Given the description of an element on the screen output the (x, y) to click on. 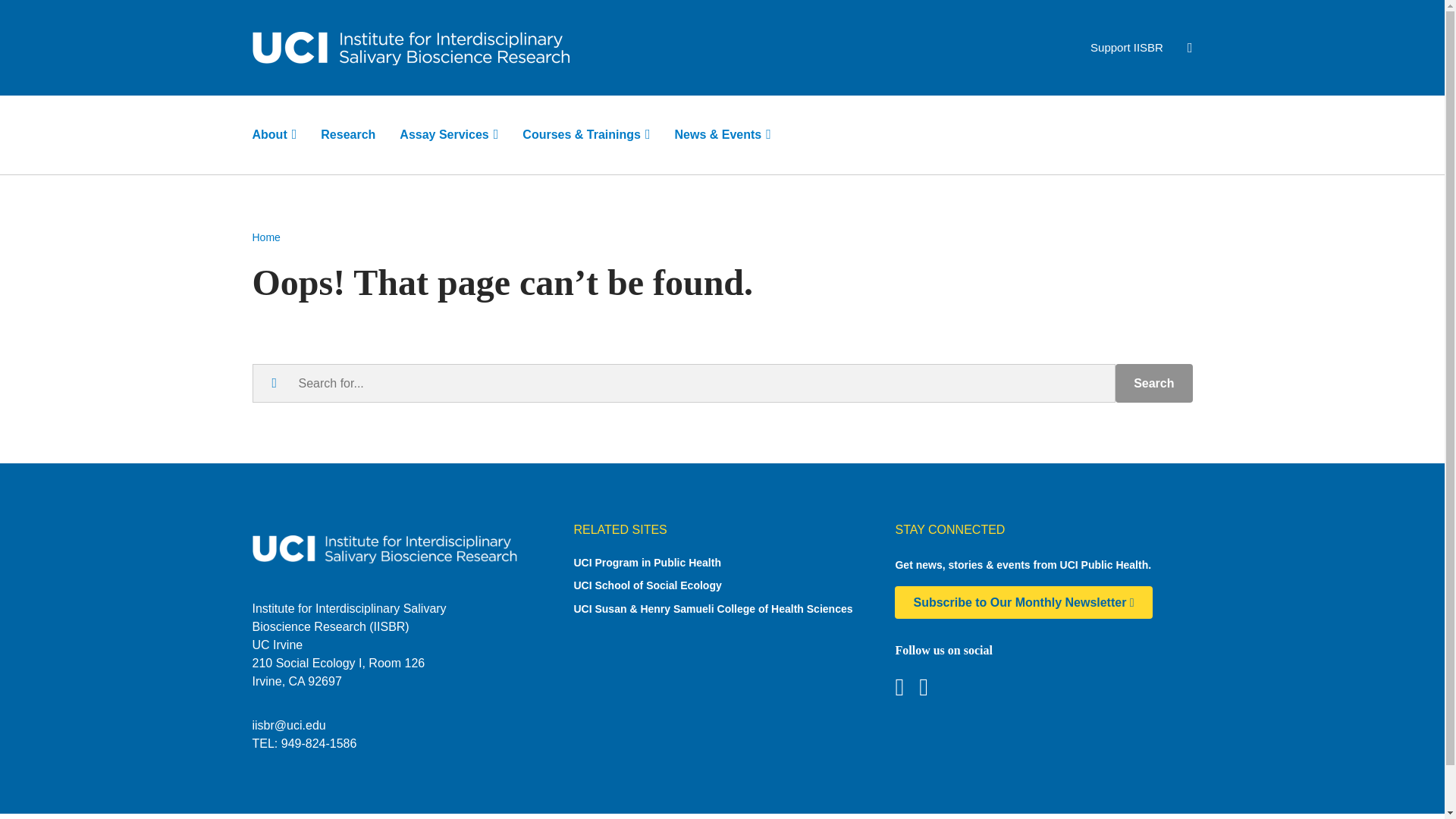
Assay Services (449, 134)
UCI School of Social Ecology (721, 585)
Support IISBR (1126, 47)
949-824-1586 (318, 743)
About (274, 134)
About (274, 134)
Support IISBR (1126, 47)
UCI School of Social Ecology (721, 585)
Research (347, 134)
Subscribe to Our Monthly Newsletter (1023, 602)
UCI Program in Public Health (721, 562)
UCI Program in Public Health (721, 562)
Research (347, 134)
Home (265, 237)
Assay Services (449, 134)
